Given the description of an element on the screen output the (x, y) to click on. 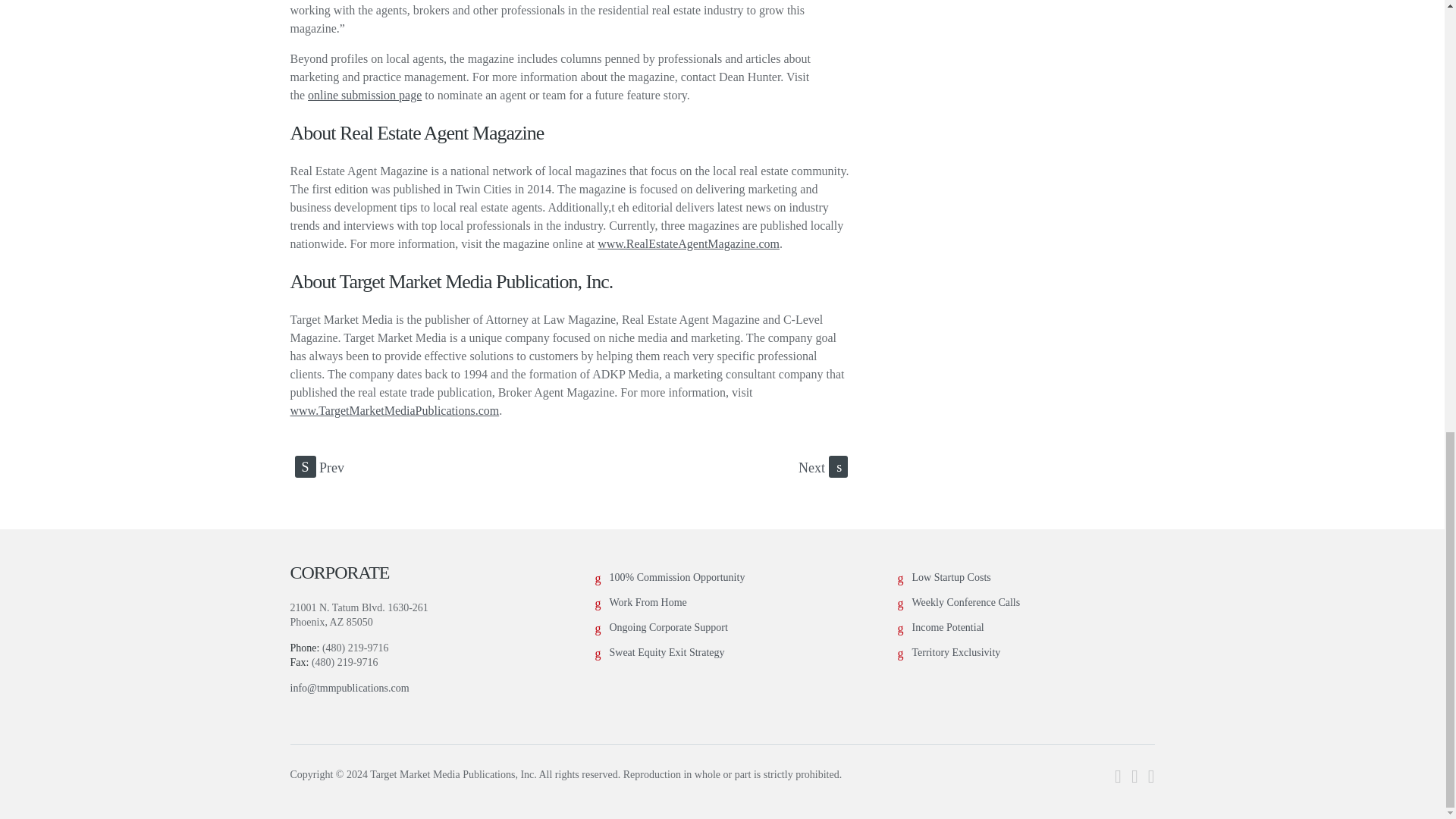
Next s (822, 466)
Low Startup Costs (950, 577)
online submission page (364, 94)
S Prev (318, 466)
www.RealEstateAgentMagazine.com (687, 243)
Ongoing Corporate Support (669, 627)
www.TargetMarketMediaPublications.com (394, 410)
Sweat Equity Exit Strategy (667, 652)
Work From Home (648, 602)
